Given the description of an element on the screen output the (x, y) to click on. 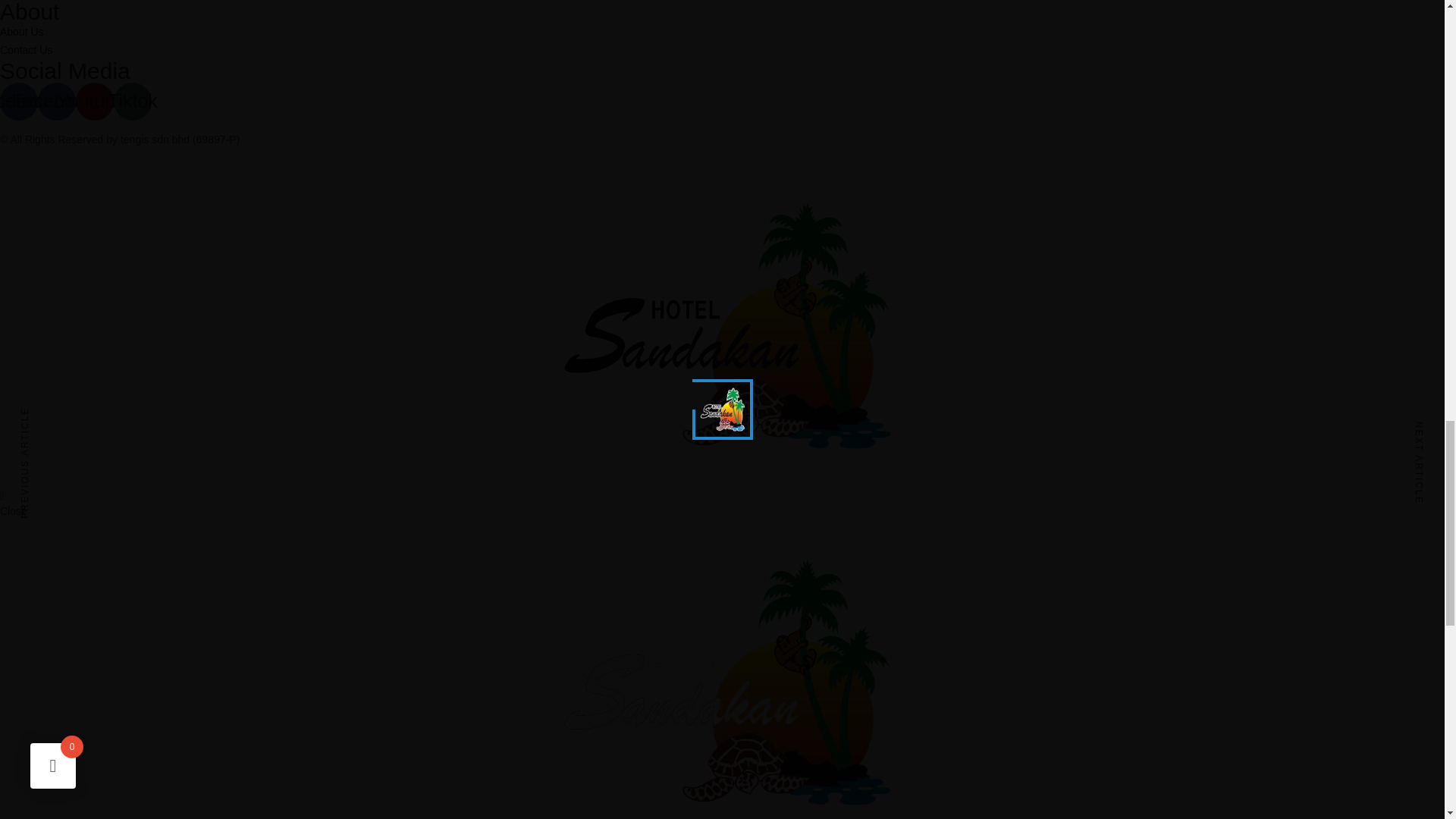
Youtube (94, 101)
Close (13, 510)
Facebook (56, 101)
Tiktok (132, 101)
Facebook (18, 101)
